Given the description of an element on the screen output the (x, y) to click on. 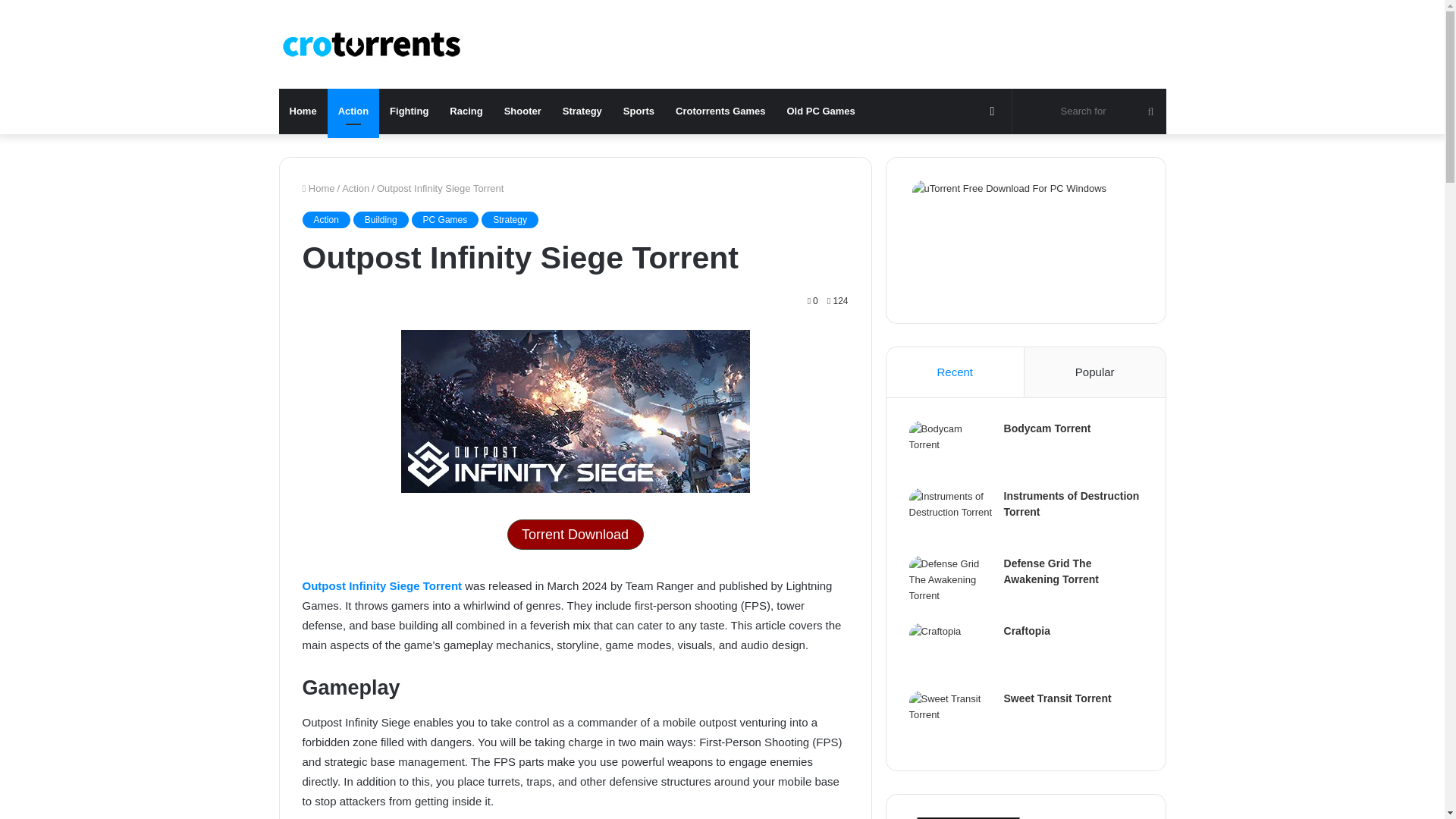
Crotorrents Games (720, 111)
PC Games (445, 219)
CroTorrents (371, 44)
Search for (1088, 111)
Torrent Download (574, 534)
Action (325, 219)
Action (355, 188)
Outpost Infinity Siege Torrent (381, 585)
Home (303, 111)
Shooter (522, 111)
